Given the description of an element on the screen output the (x, y) to click on. 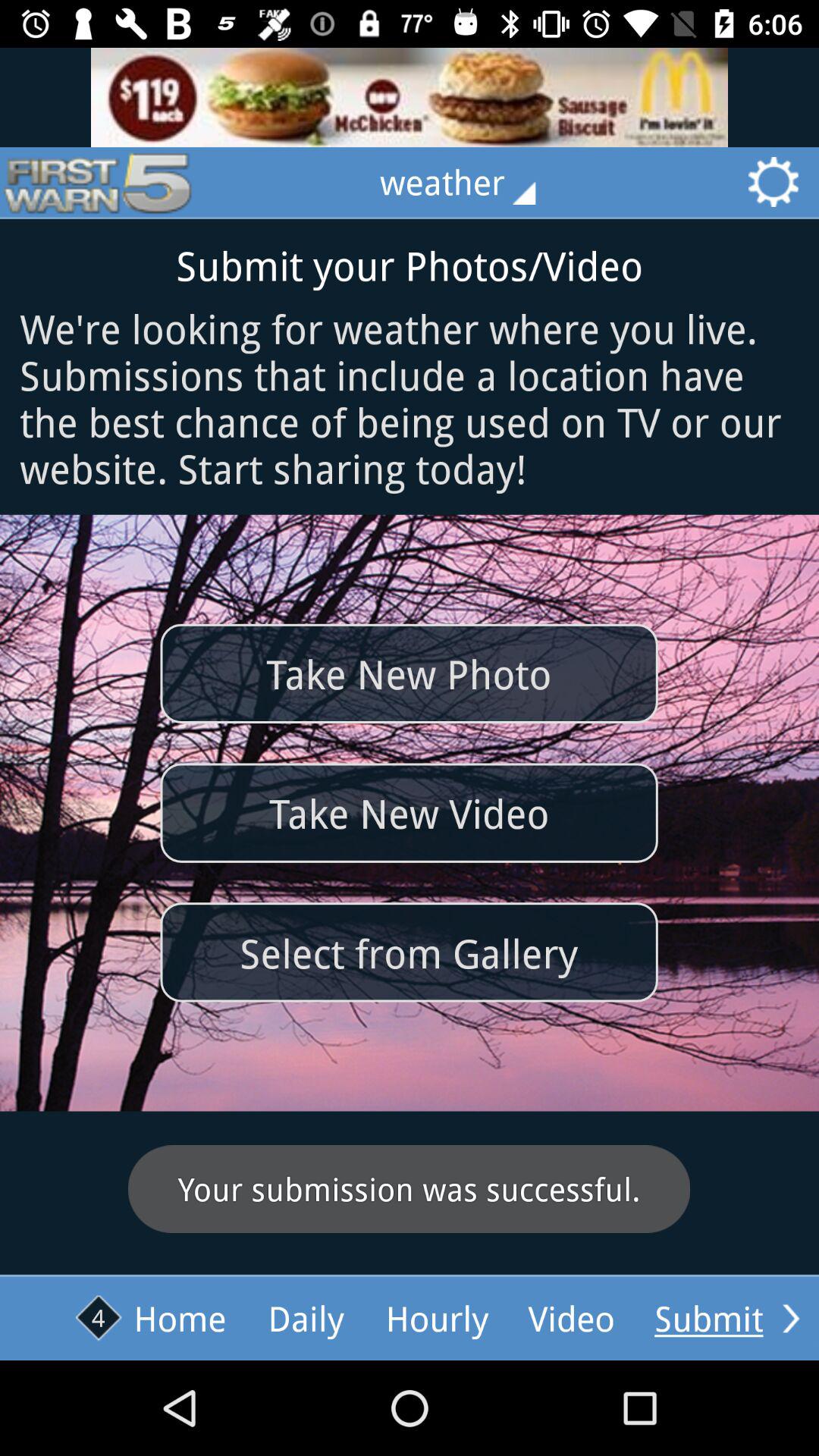
open mcdonalds advertisement (409, 97)
